Given the description of an element on the screen output the (x, y) to click on. 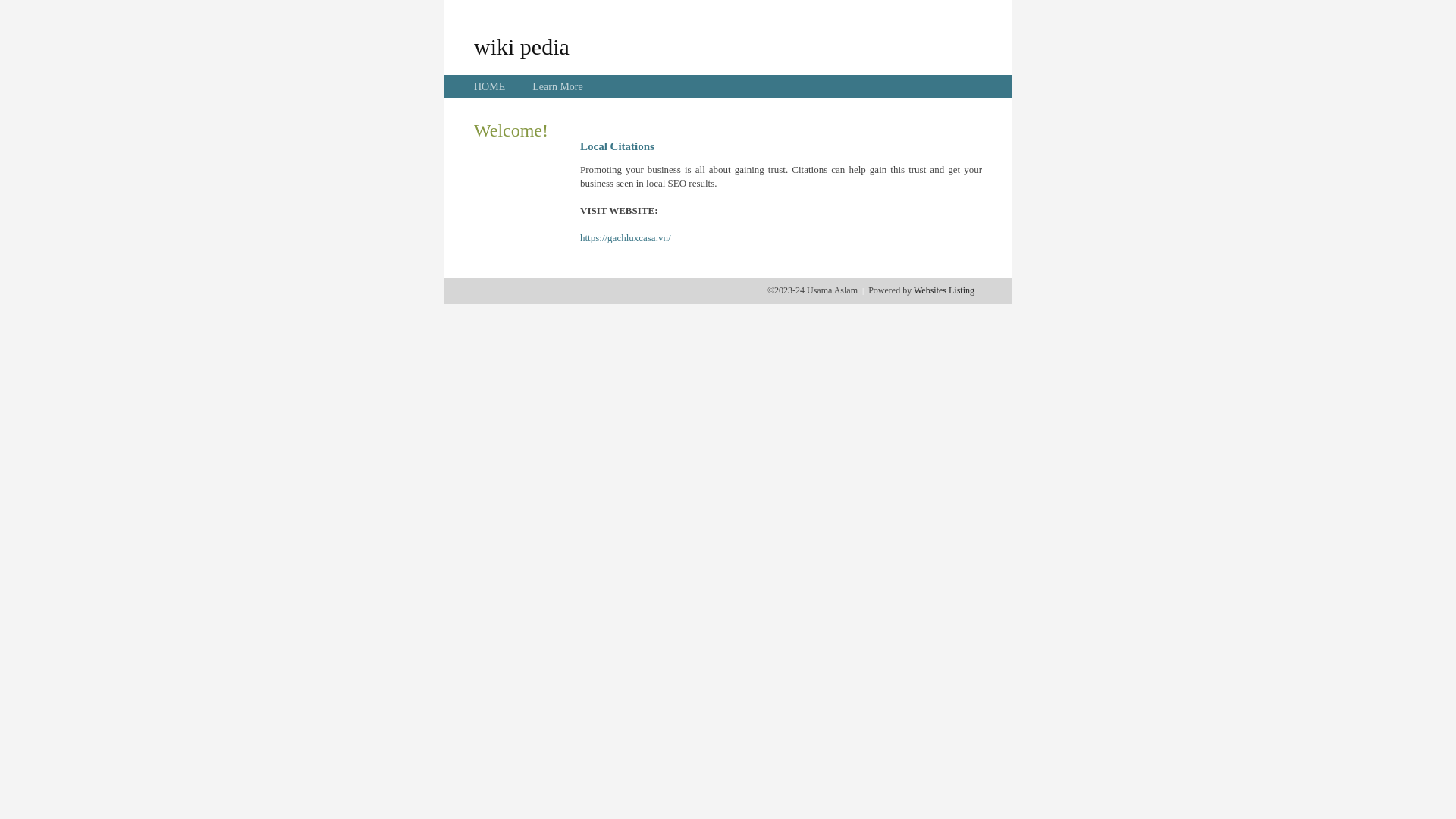
Websites Listing Element type: text (943, 290)
https://gachluxcasa.vn/ Element type: text (625, 237)
wiki pedia Element type: text (521, 46)
Learn More Element type: text (557, 86)
HOME Element type: text (489, 86)
